Given the description of an element on the screen output the (x, y) to click on. 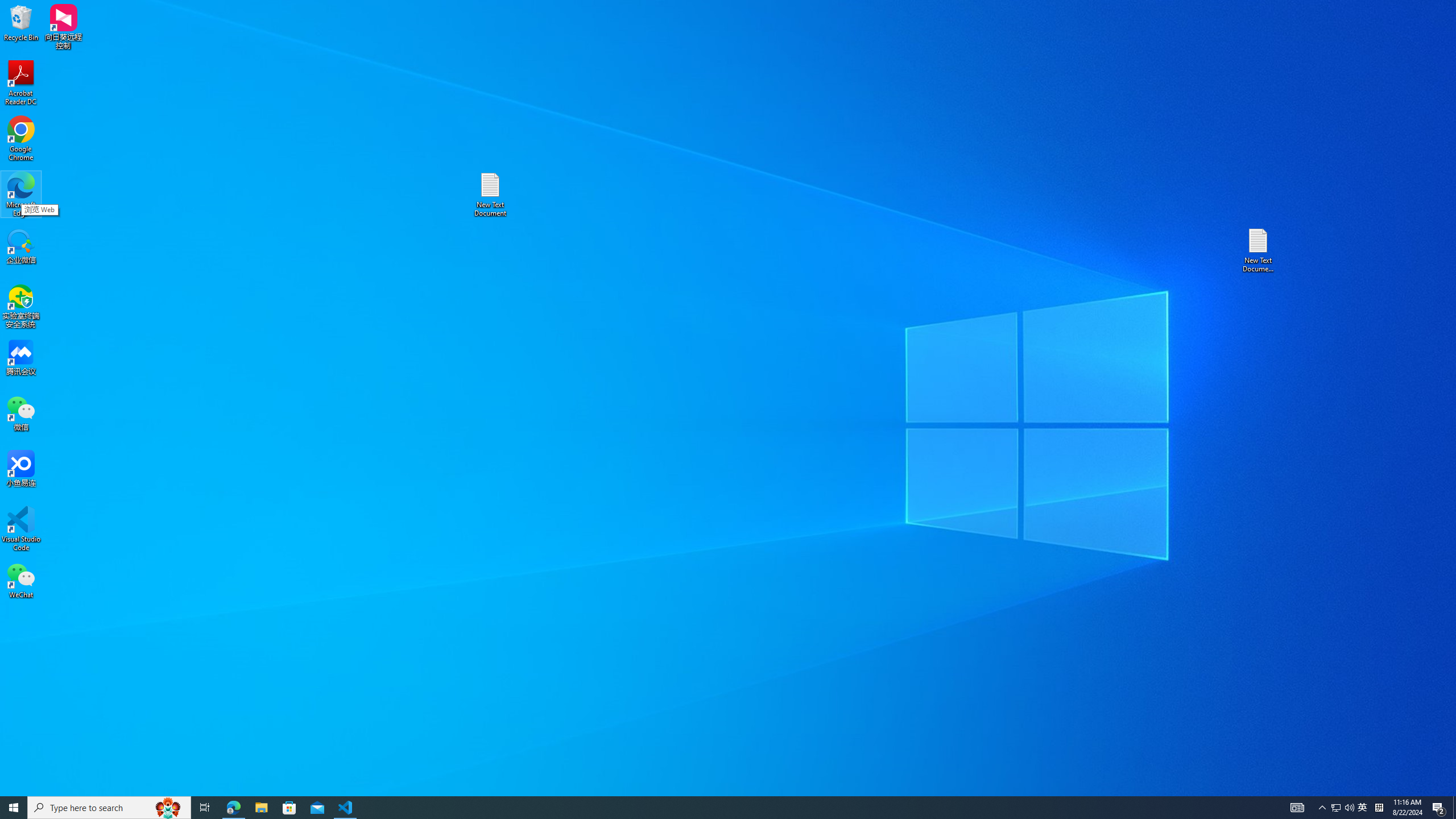
New Text Document (2) (1258, 250)
